Given the description of an element on the screen output the (x, y) to click on. 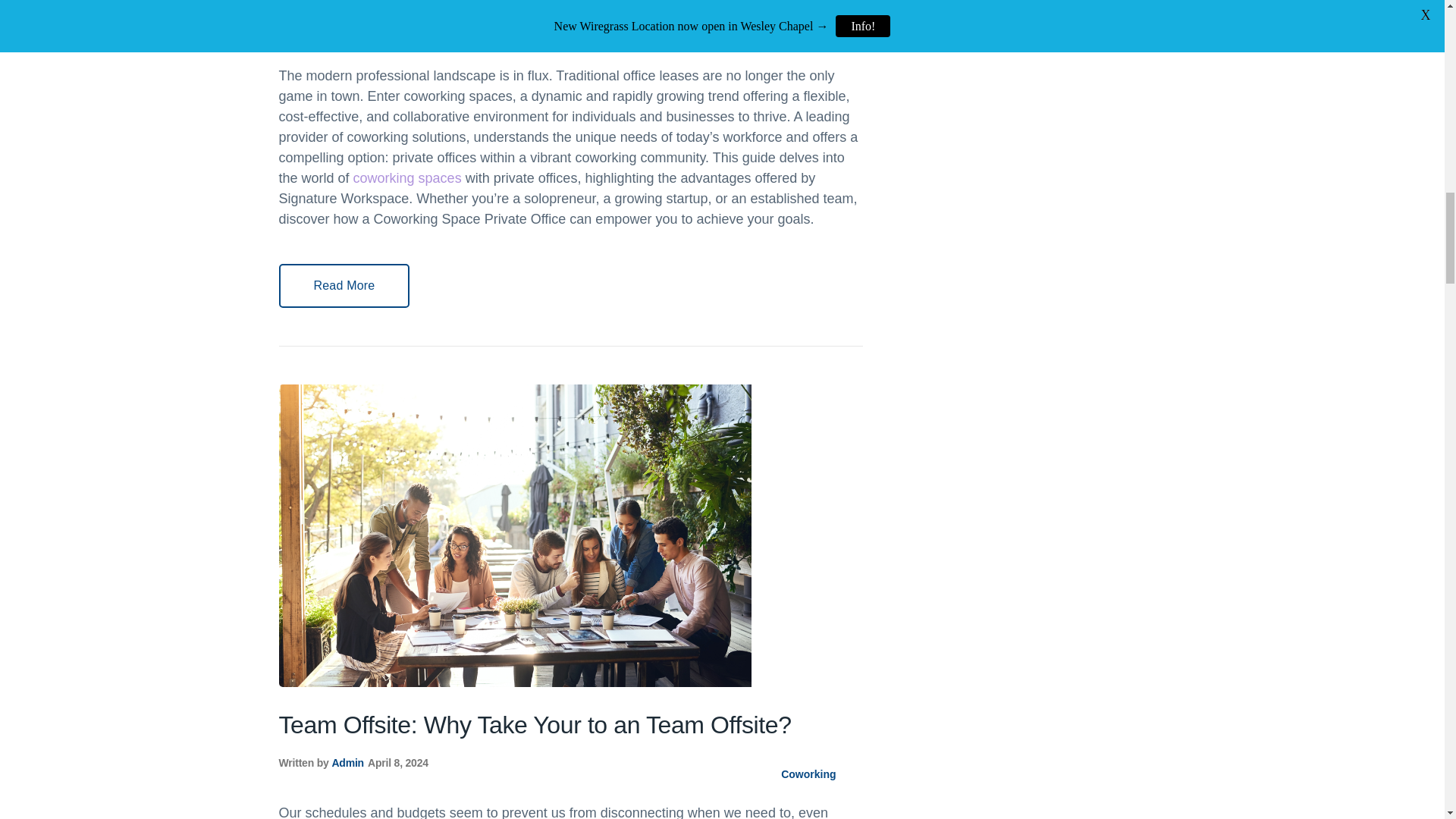
View all posts by Admin (347, 25)
coworking spaces (407, 177)
Read More (344, 285)
Coworking (807, 774)
Admin (347, 25)
Team Offsite: Why Take Your to an Team Offsite? (535, 724)
Admin (347, 762)
Coworking (807, 37)
View all posts by Admin (347, 762)
Read More (344, 285)
